Given the description of an element on the screen output the (x, y) to click on. 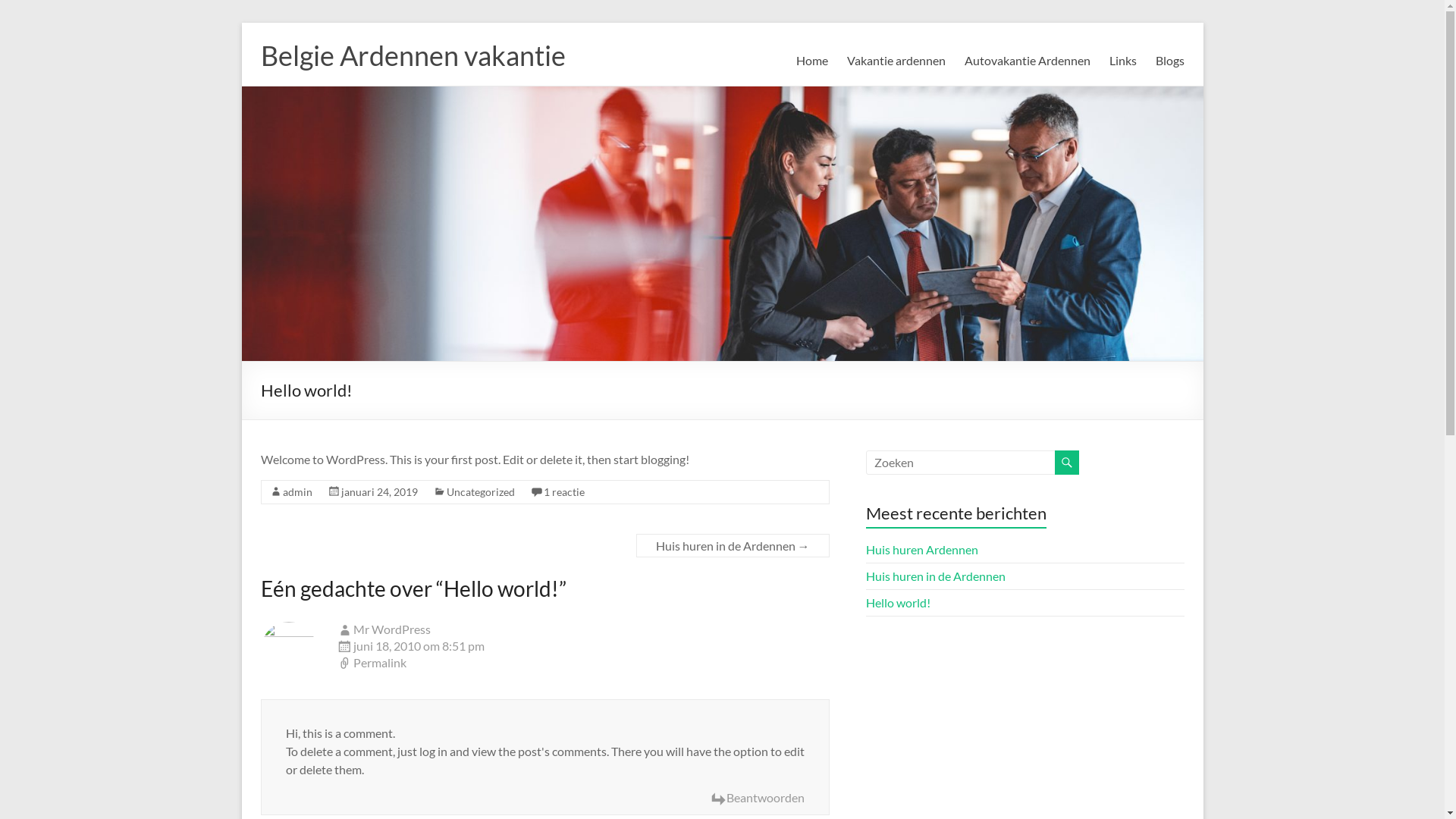
Belgie Ardennen vakantie Element type: text (412, 55)
Mr WordPress Element type: text (391, 628)
Skip to content Element type: text (241, 21)
Vakantie ardennen Element type: text (895, 60)
Blogs Element type: text (1169, 60)
Home Element type: text (812, 60)
Huis huren in de Ardennen Element type: text (935, 575)
Permalink Element type: text (582, 663)
Links Element type: text (1121, 60)
januari 24, 2019 Element type: text (379, 491)
admin Element type: text (296, 491)
Huis huren Ardennen Element type: text (922, 549)
1 reactie Element type: text (562, 491)
Autovakantie Ardennen Element type: text (1027, 60)
Beantwoorden Element type: text (756, 798)
Hello world! Element type: text (898, 602)
Uncategorized Element type: text (479, 491)
